Given the description of an element on the screen output the (x, y) to click on. 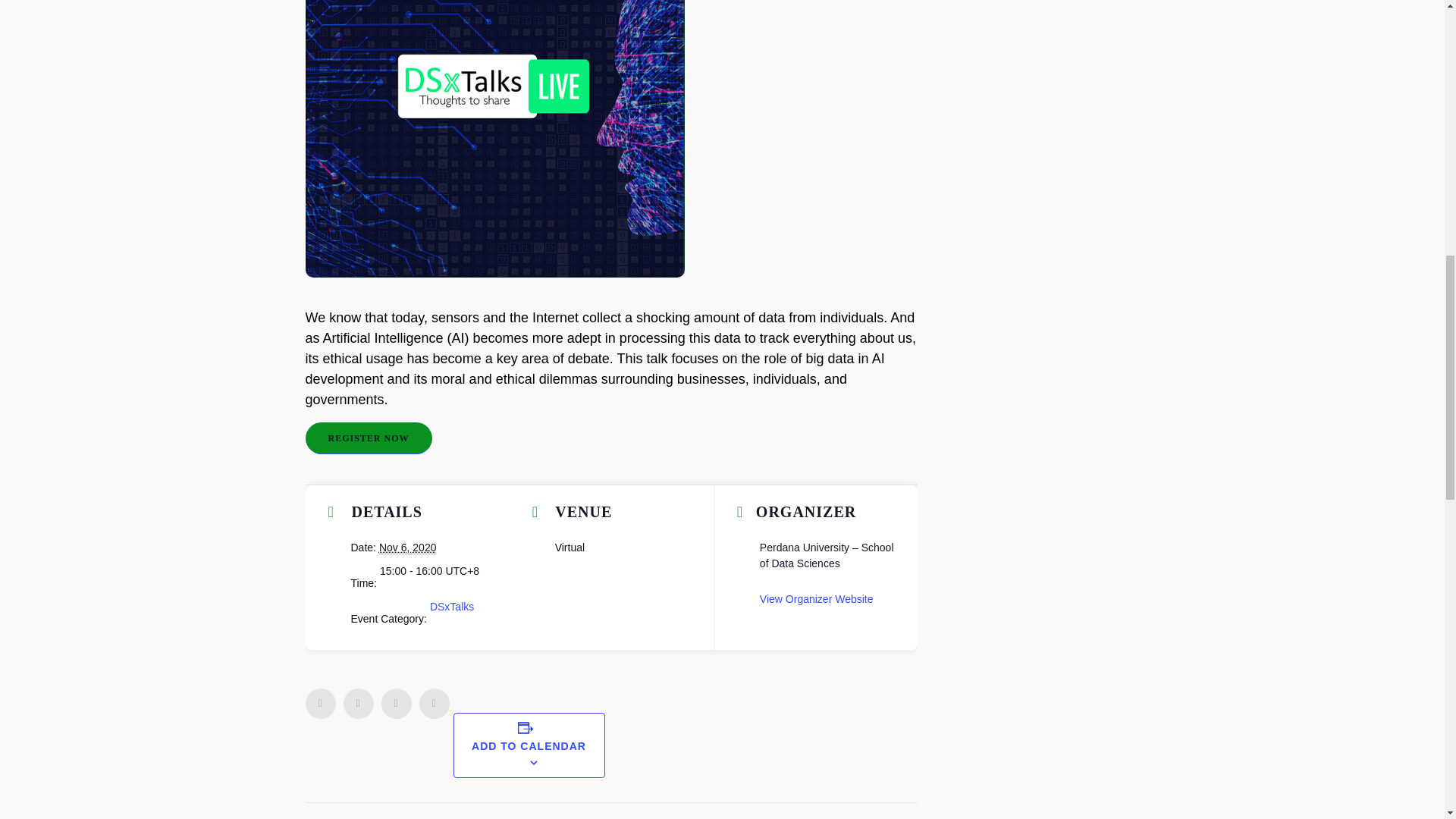
DSxTalks (451, 606)
Share on Twitter (357, 703)
Share on Facebook (319, 703)
Email this (433, 703)
2020-11-06 (429, 571)
REGISTER NOW (367, 438)
Share on LinkedIn (395, 703)
2020-11-06 (407, 547)
View Organizer Website (816, 598)
